Given the description of an element on the screen output the (x, y) to click on. 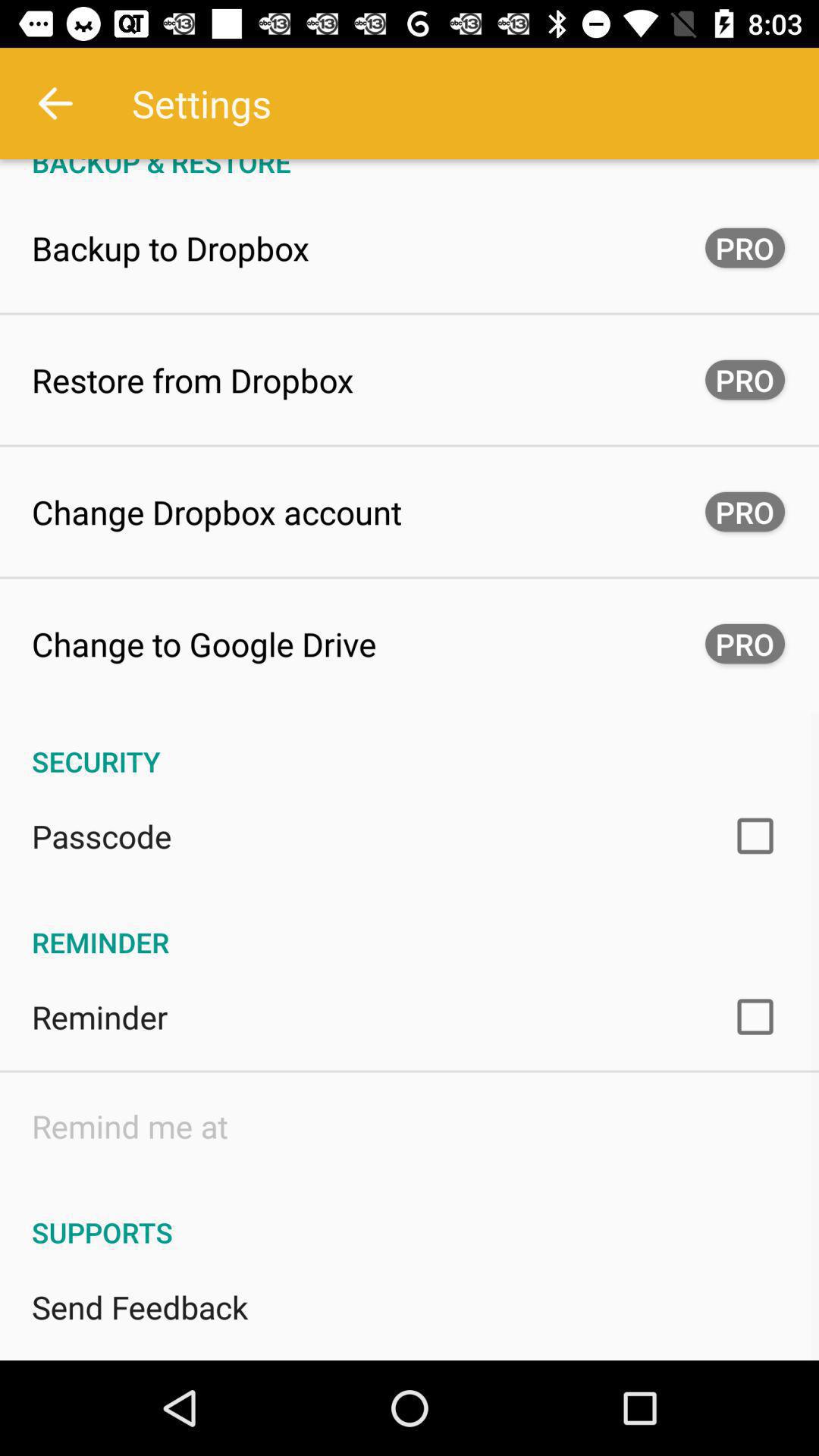
choose the item above the change dropbox account (192, 379)
